Given the description of an element on the screen output the (x, y) to click on. 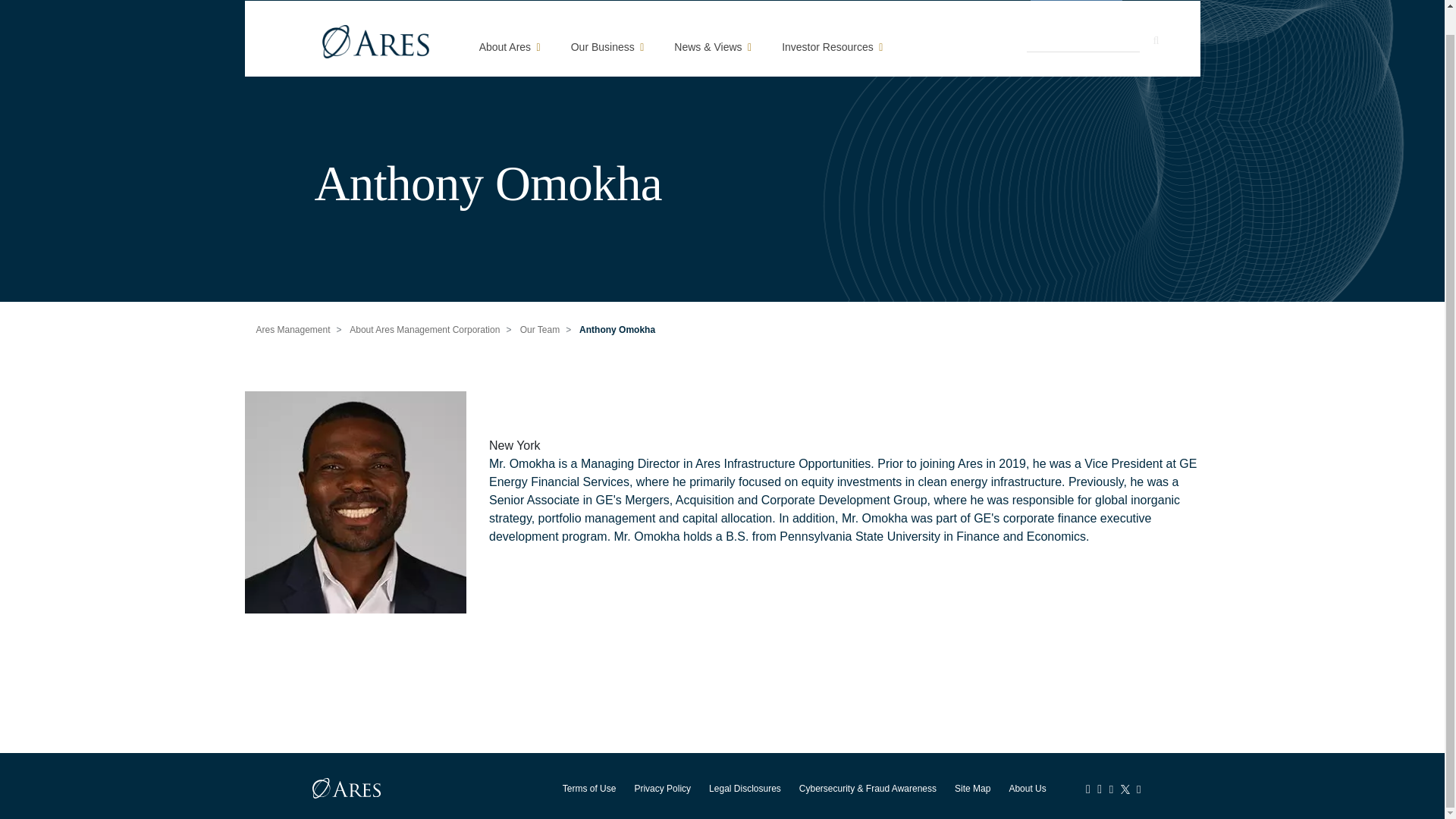
Search keywords (1083, 38)
Our Business (607, 45)
About Ares (510, 45)
Home (374, 43)
INVESTOR LOGIN (1076, 1)
